Given the description of an element on the screen output the (x, y) to click on. 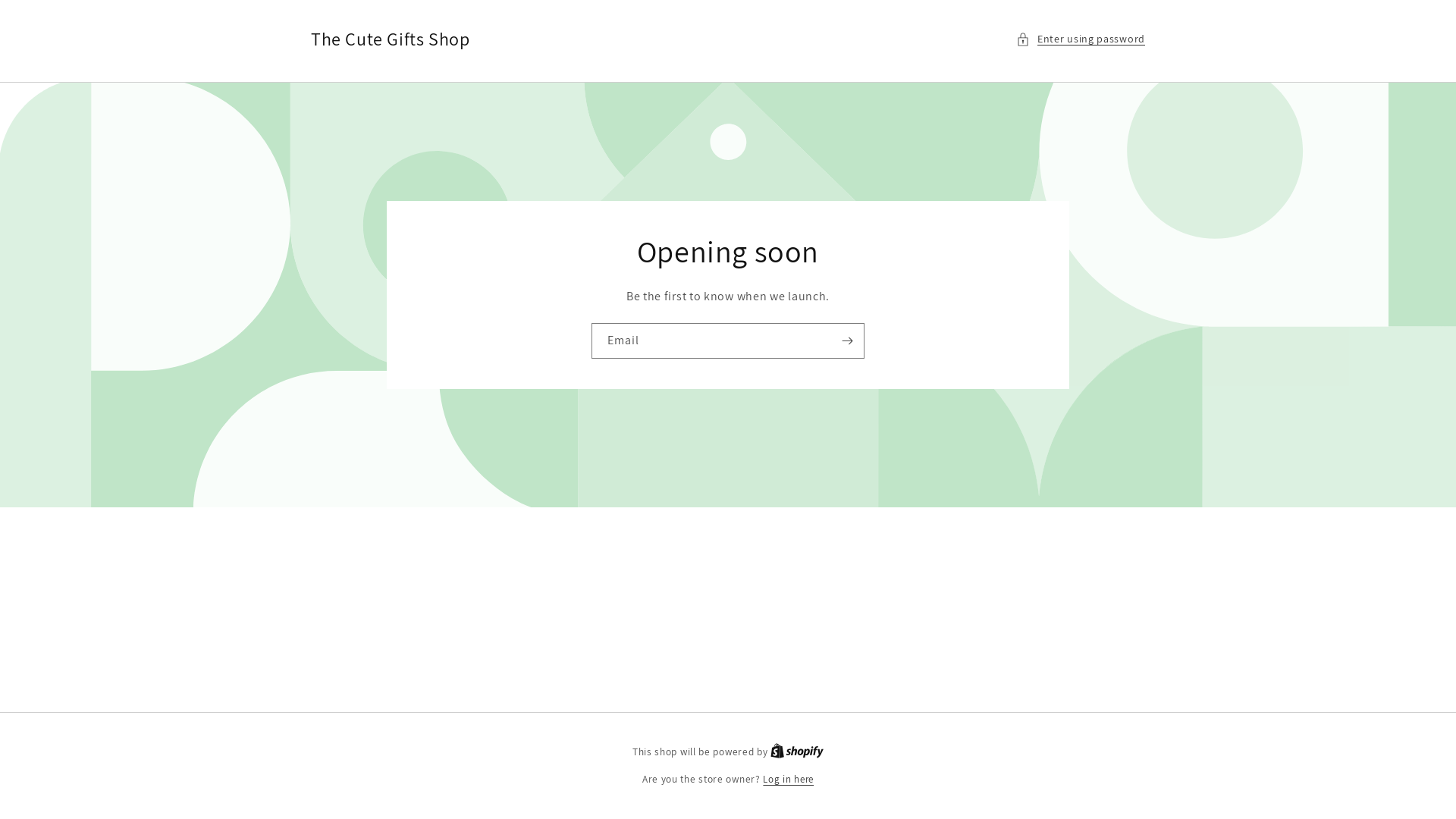
Log in here Element type: text (787, 779)
